Given the description of an element on the screen output the (x, y) to click on. 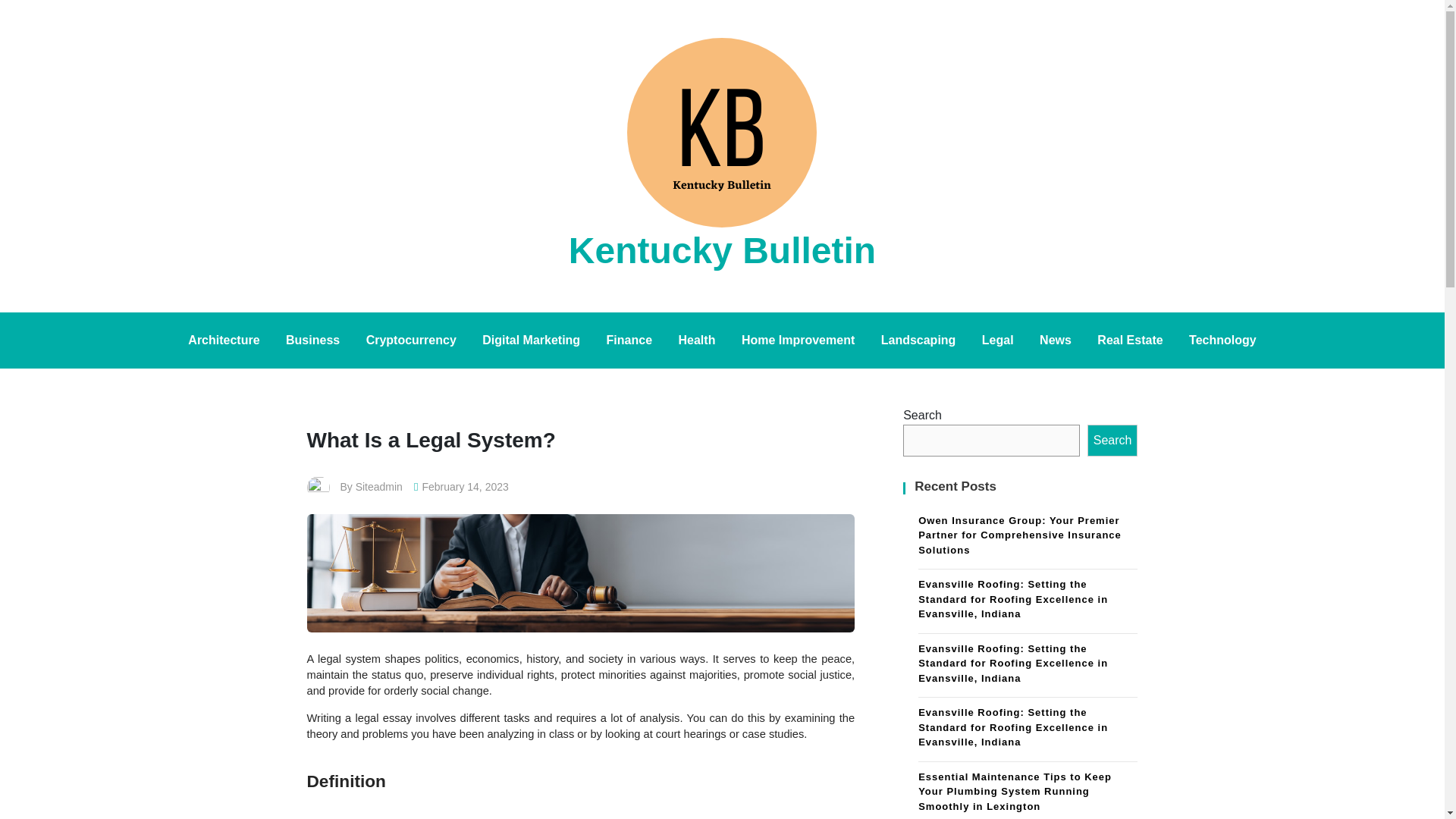
Digital Marketing (530, 340)
Home Improvement (798, 340)
Search (1112, 440)
Technology (1222, 340)
Siteadmin (379, 486)
Cryptocurrency (411, 340)
Landscaping (918, 340)
Real Estate (1129, 340)
News (1055, 340)
Architecture (223, 340)
Legal (998, 340)
